Given the description of an element on the screen output the (x, y) to click on. 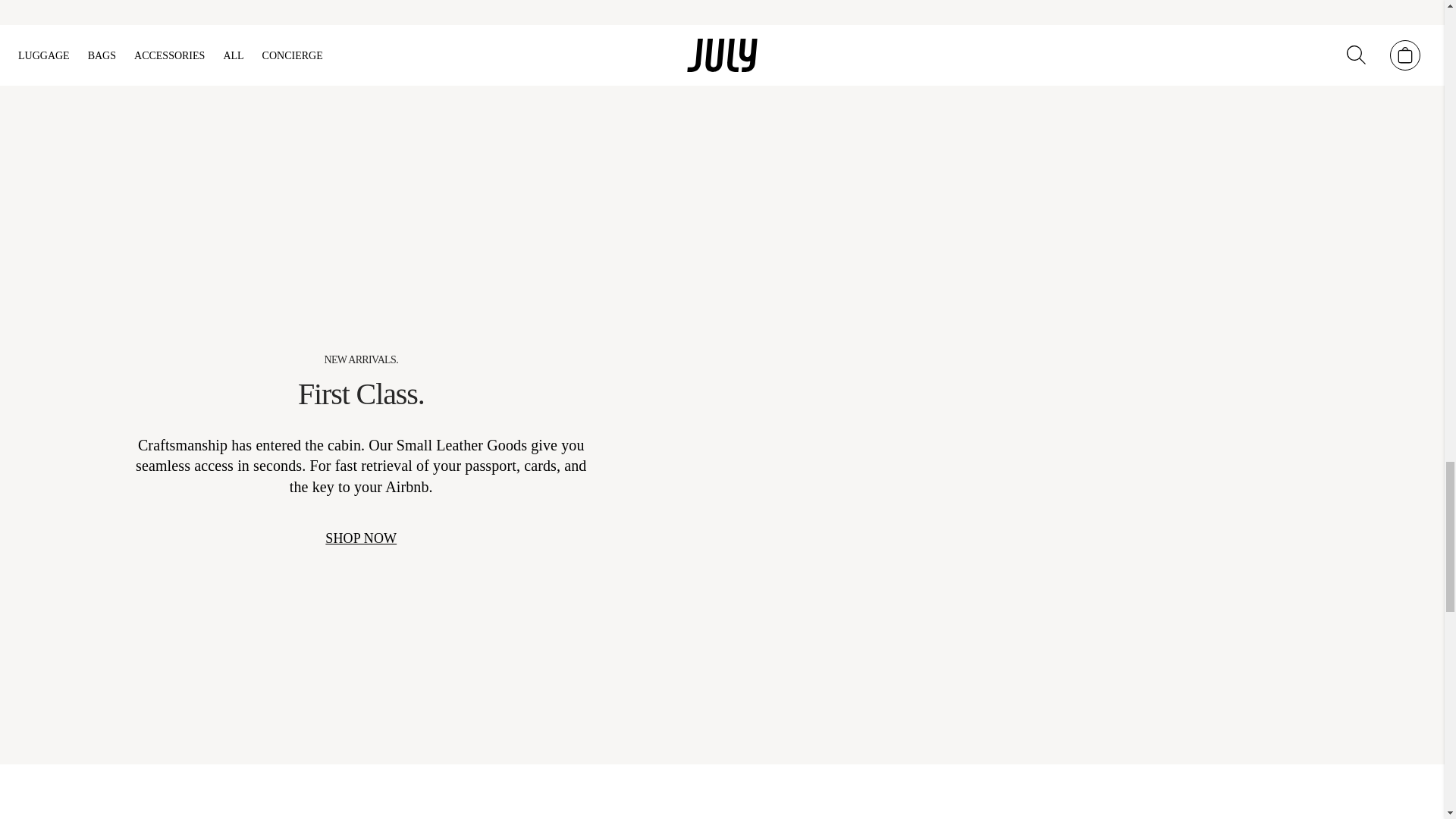
SHOP NOW (360, 538)
SHOP LUGGAGE (1192, 32)
SHOP SETS (973, 32)
